Given the description of an element on the screen output the (x, y) to click on. 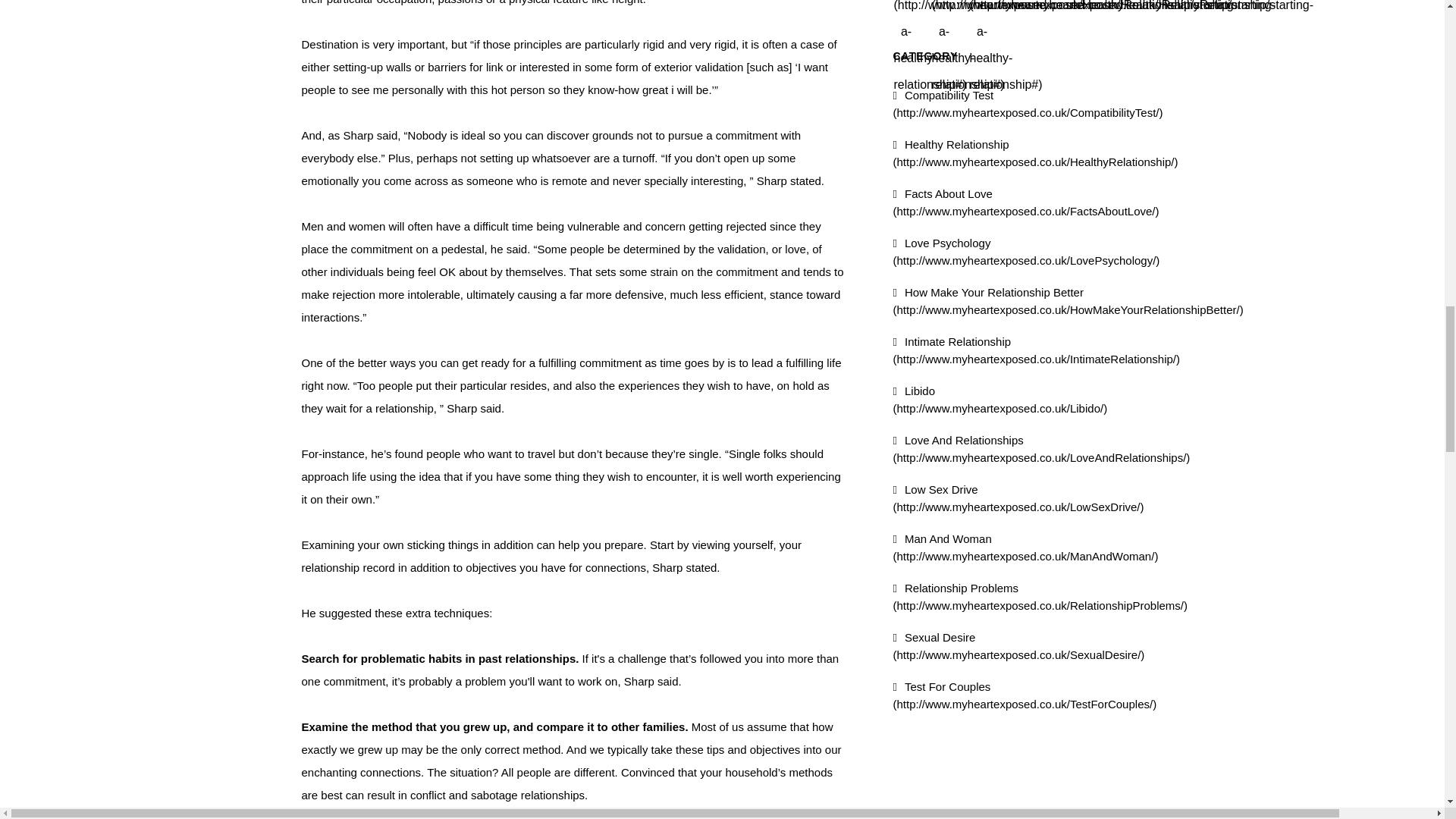
View all posts filed under Compatibility Test (1028, 103)
View all posts filed under Intimate Relationship (1036, 349)
View all posts filed under How Make Your Relationship Better (1068, 300)
View all posts filed under Facts About Love (1025, 202)
View all posts filed under Healthy Relationship (1035, 153)
View all posts filed under Love Psychology (1026, 251)
View all posts filed under Libido (1000, 399)
